Given the description of an element on the screen output the (x, y) to click on. 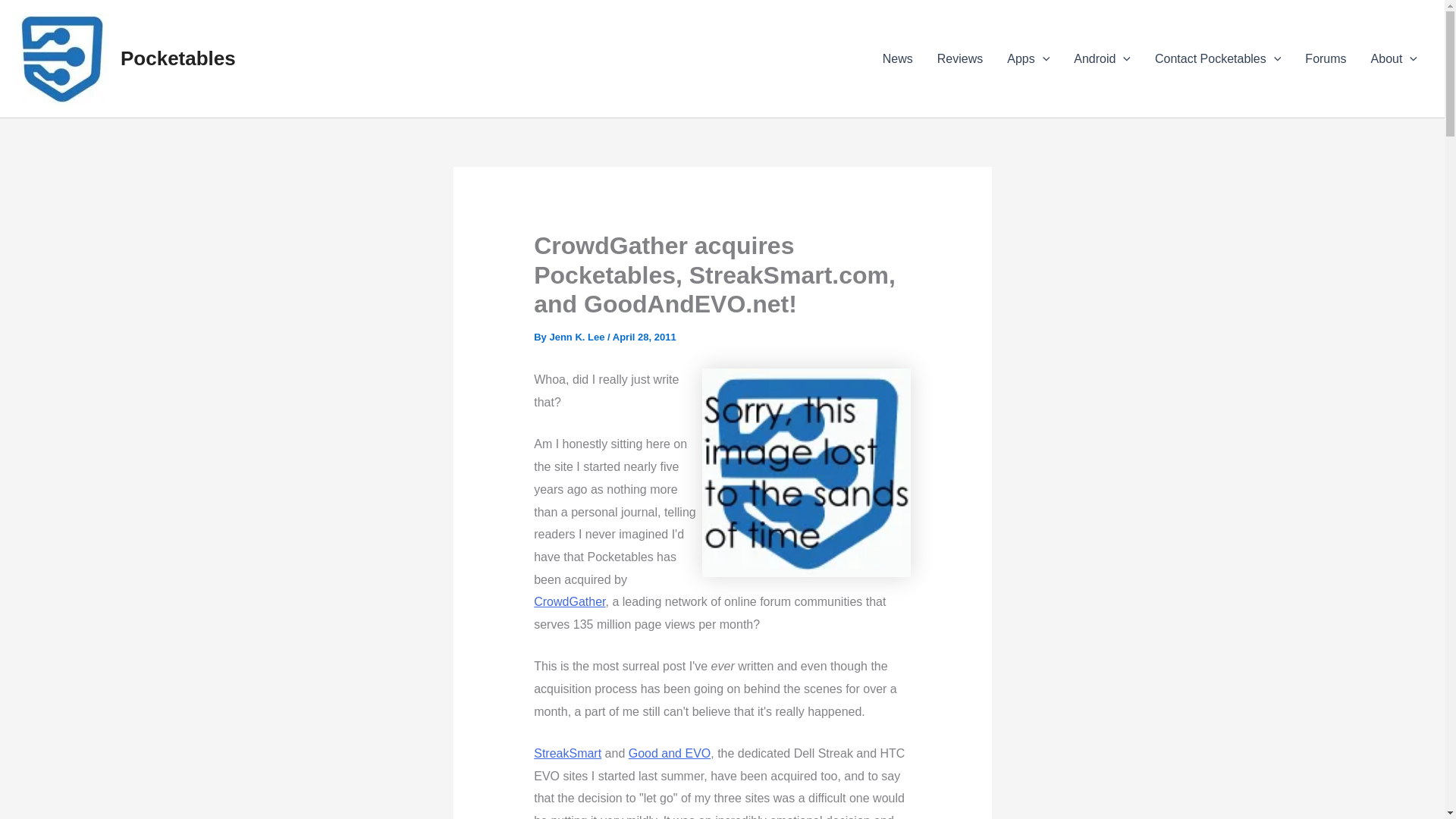
Forums (1325, 58)
Apps (1027, 58)
About (1393, 58)
View all posts by Jenn K. Lee (576, 337)
News (897, 58)
Android (1101, 58)
Contact Pocketables (1217, 58)
Reviews (959, 58)
Pocketables (177, 57)
